Given the description of an element on the screen output the (x, y) to click on. 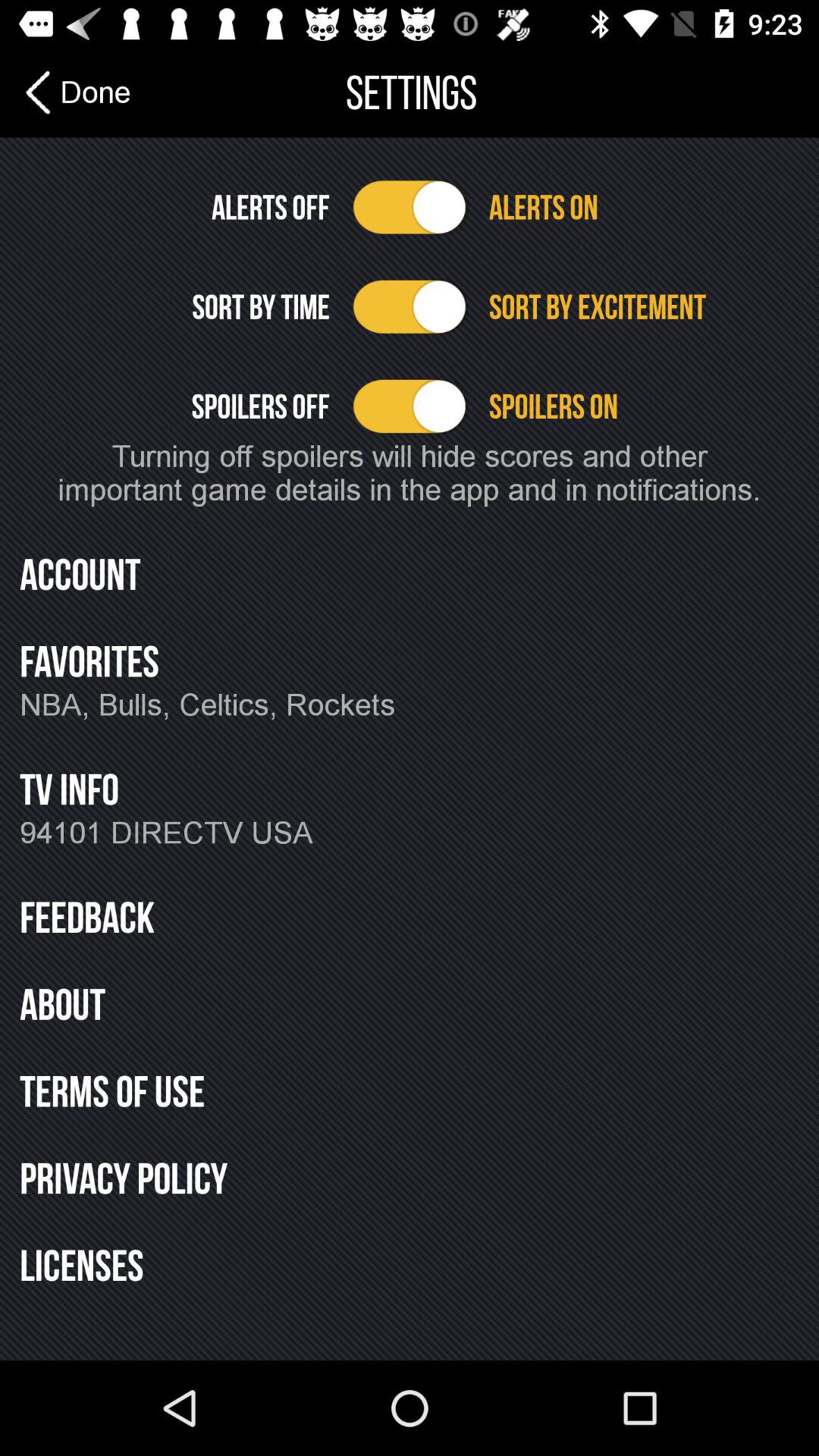
turn off the item above sort by excitement (644, 206)
